Given the description of an element on the screen output the (x, y) to click on. 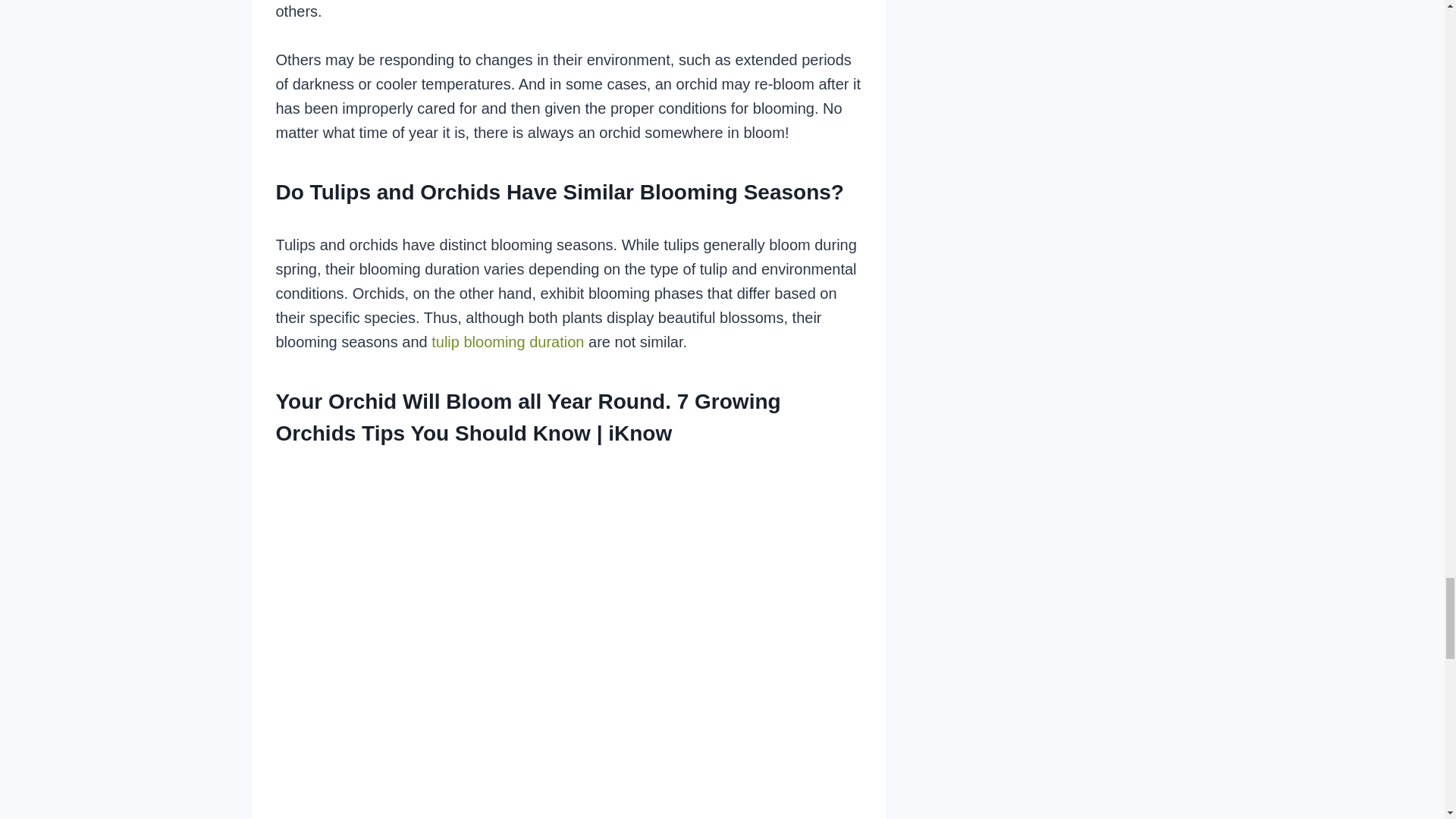
tulip blooming duration (506, 341)
